Given the description of an element on the screen output the (x, y) to click on. 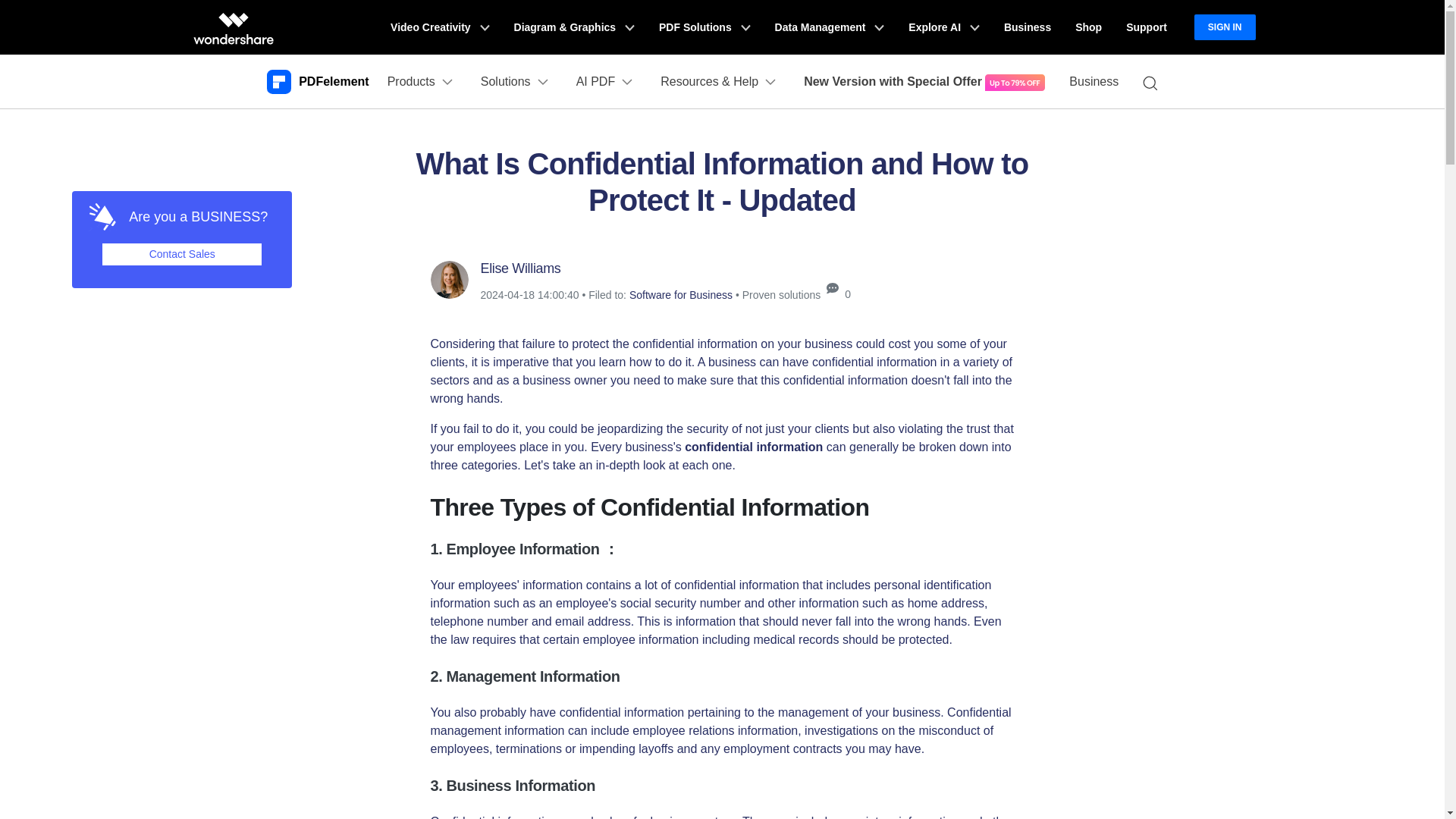
Data Management (829, 27)
PDF Solutions (704, 27)
Video Creativity (439, 27)
Explore AI (943, 27)
